Given the description of an element on the screen output the (x, y) to click on. 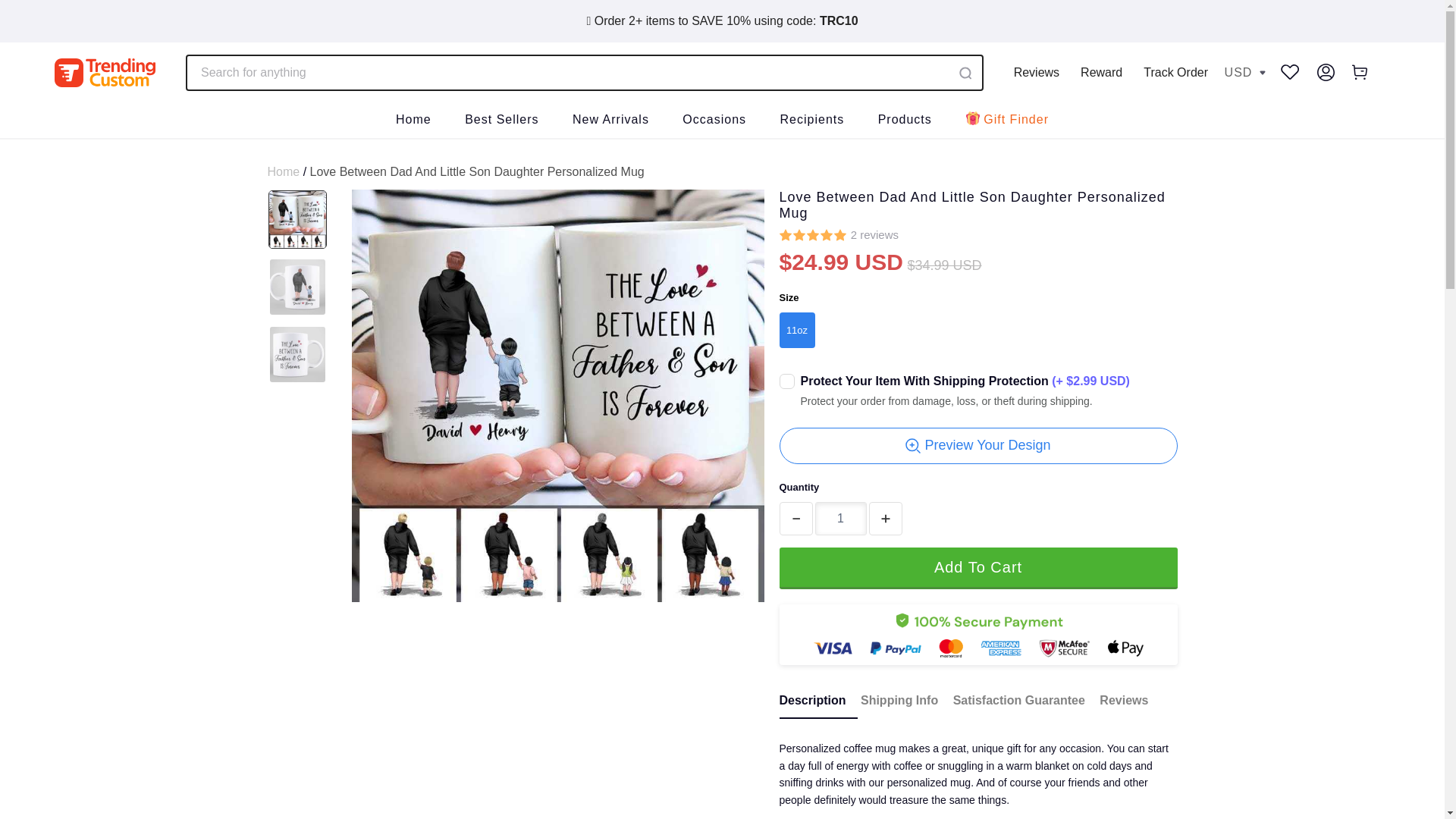
1 (839, 518)
Products (904, 120)
Recipients (812, 120)
on (786, 381)
Reward (1101, 72)
Best Sellers (501, 120)
Home (413, 120)
Gift Finder (1006, 120)
Occasions (713, 120)
Track Order (1175, 72)
Home (282, 171)
Reviews (1036, 72)
New Arrivals (610, 120)
11oz (796, 329)
